Given the description of an element on the screen output the (x, y) to click on. 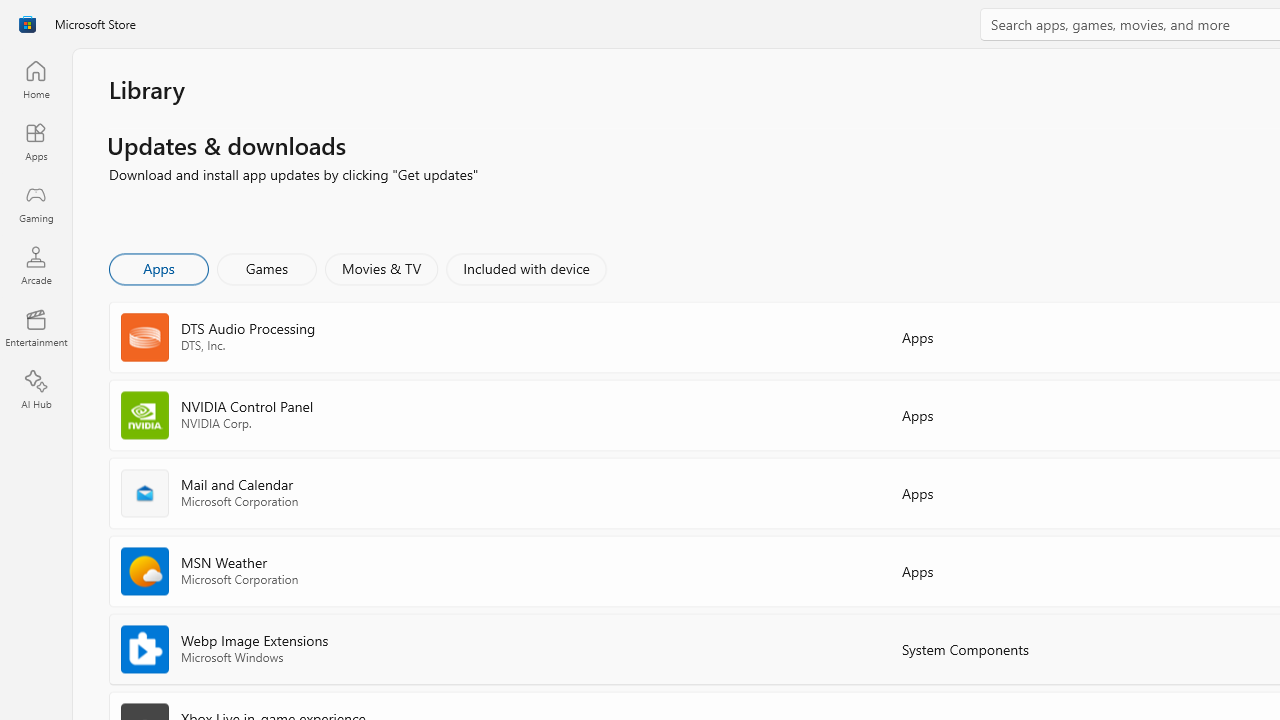
Home (35, 79)
AI Hub (35, 390)
Entertainment (35, 327)
Movies & TV (381, 268)
Games (267, 268)
Included with device (525, 268)
Arcade (35, 265)
Gaming (35, 203)
